Given the description of an element on the screen output the (x, y) to click on. 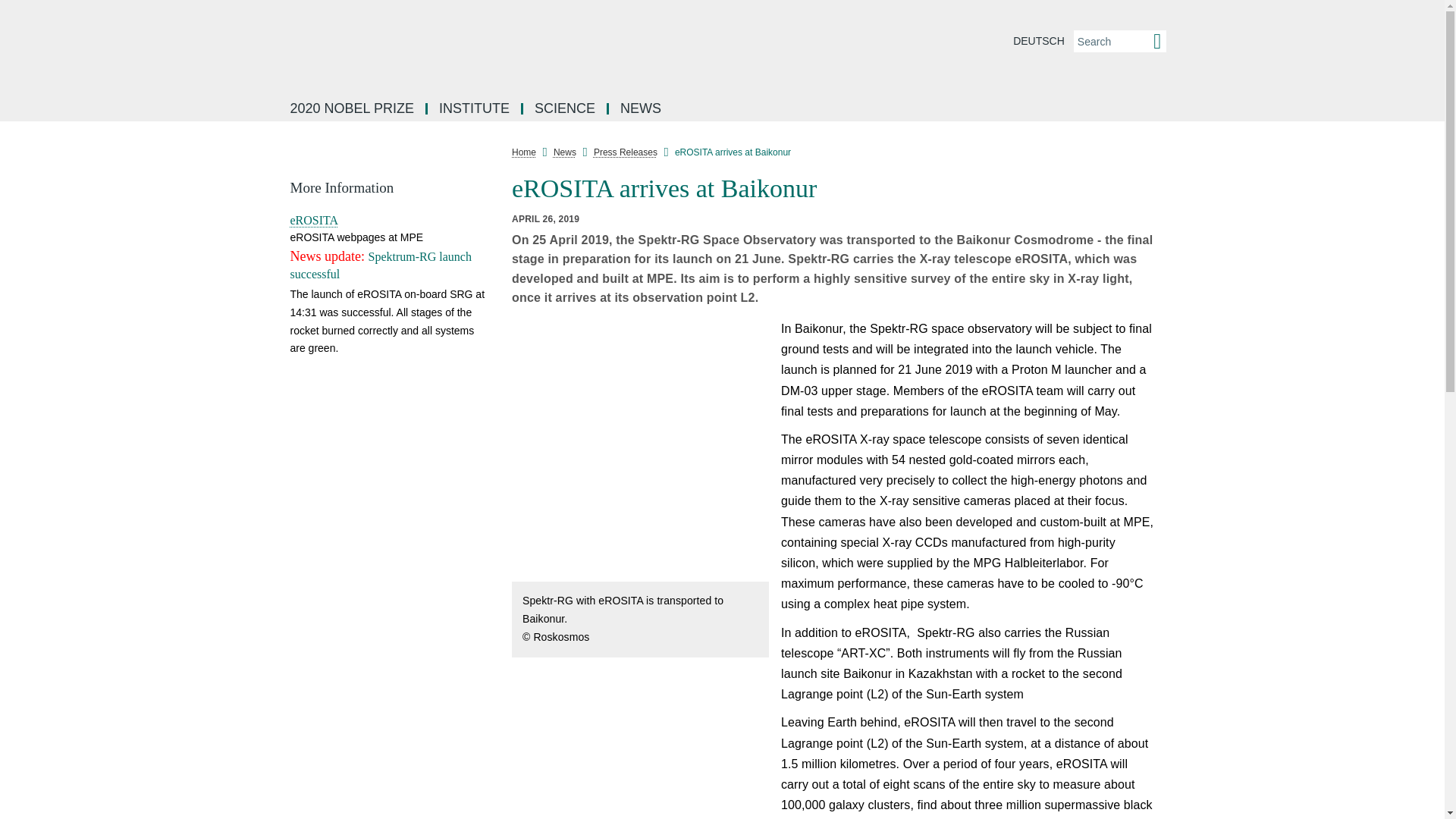
2020 NOBEL PRIZE (353, 108)
Twitter (1177, 287)
opens zoom view (640, 744)
E-Mail (1177, 354)
Reddit (1177, 252)
Print (1177, 389)
DEUTSCH (1038, 41)
SCIENCE (565, 108)
LinkedIn (1177, 219)
INSTITUTE (475, 108)
opens zoom view (640, 449)
Facebook (1177, 184)
Xing (1177, 321)
opens zoom view (755, 570)
Spektr-RG with eROSITA is transported to Baikonur. (640, 446)
